Given the description of an element on the screen output the (x, y) to click on. 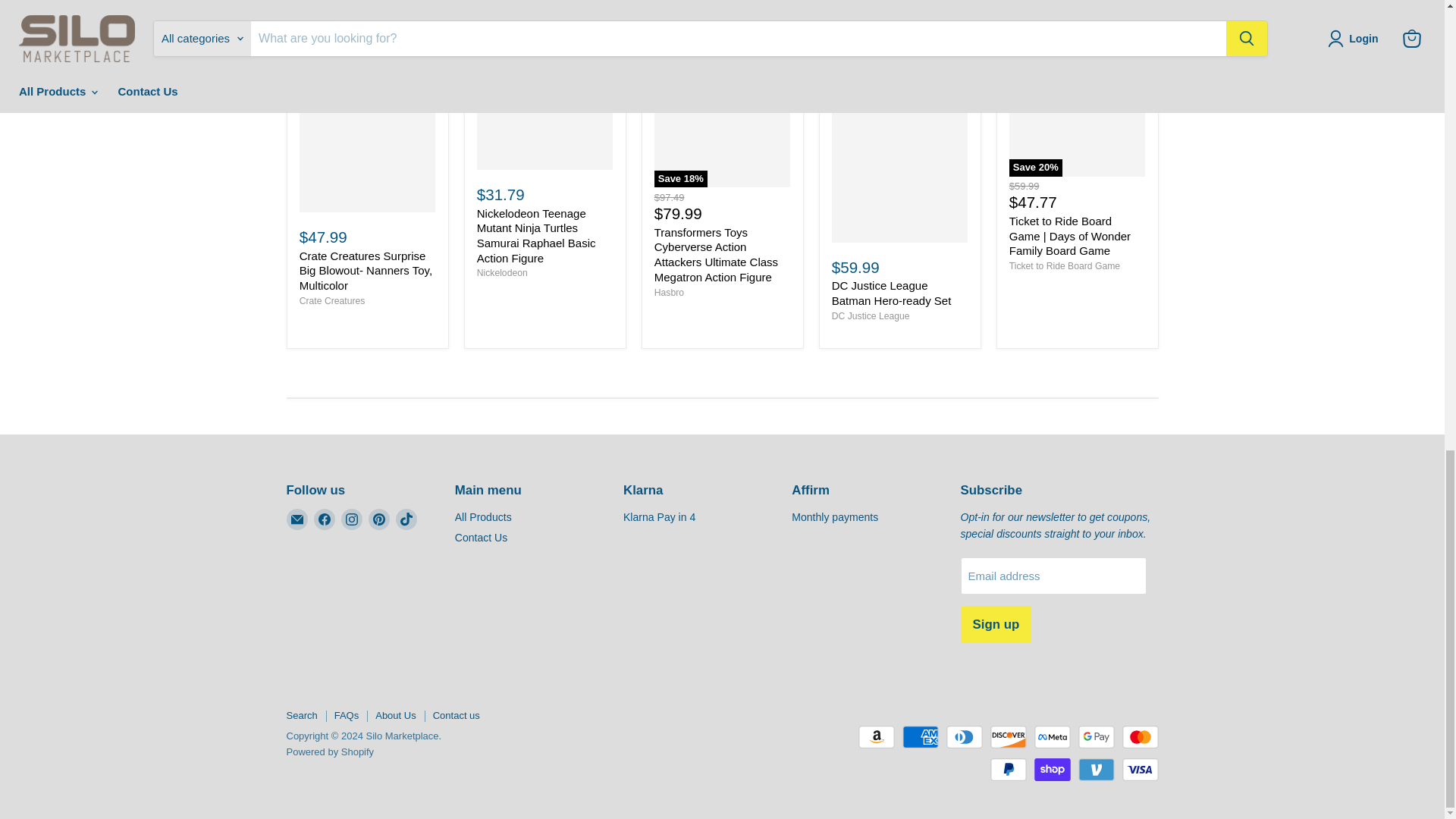
Crate Creatures (332, 300)
Hasbro (668, 292)
Nickelodeon (502, 272)
